Given the description of an element on the screen output the (x, y) to click on. 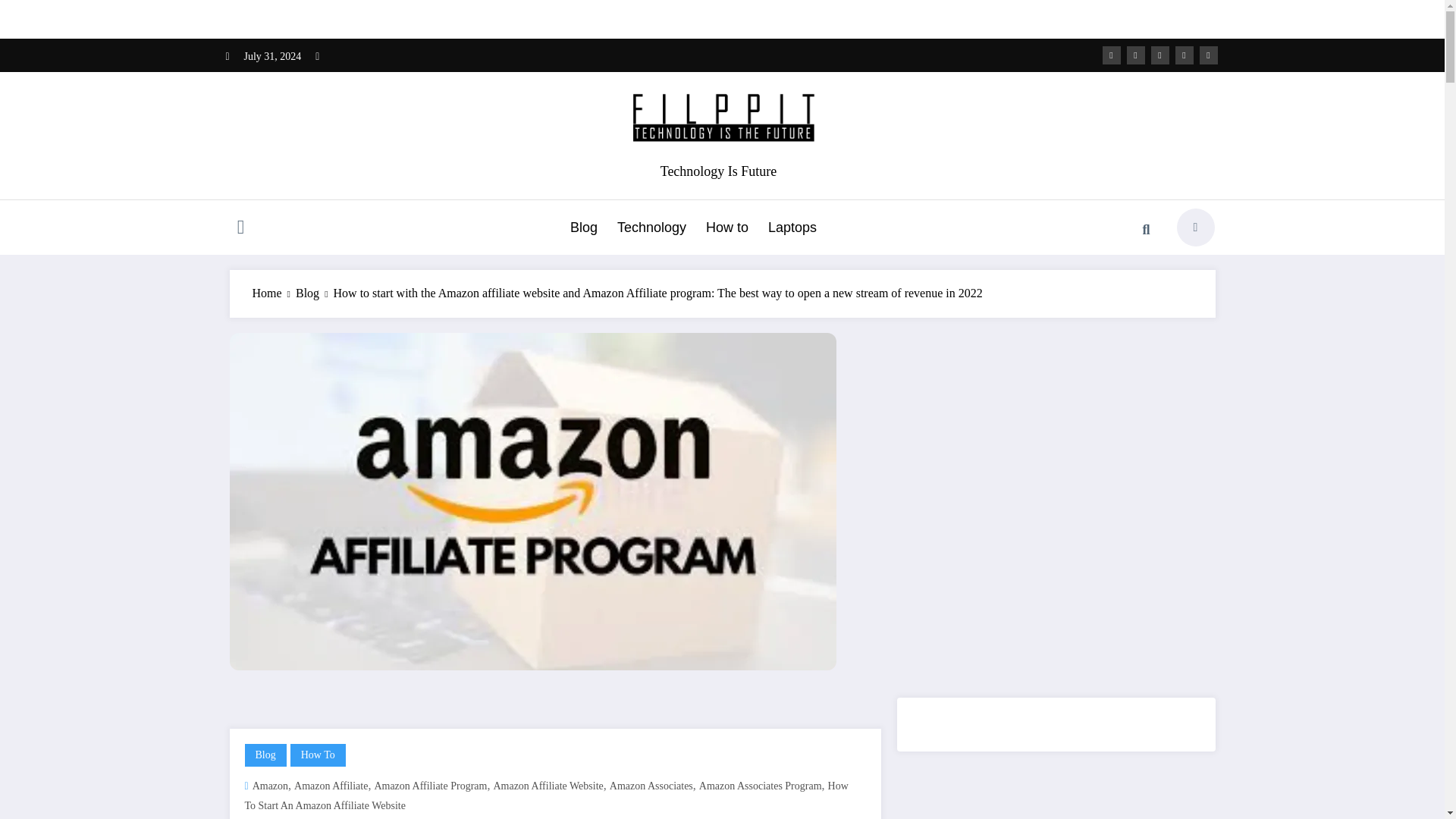
Laptops (792, 227)
Amazon Affiliate Program (430, 785)
Amazon Associates (651, 785)
facebook-f (1111, 54)
Amazon Associates Program (760, 785)
Amazon Affiliate Website (547, 785)
Technology (651, 227)
Toggle Icon (239, 228)
Blog (306, 292)
Home (266, 292)
Blog (264, 754)
Amazon (269, 785)
dribbble (1160, 54)
fa-brands fa-x-twitter (1135, 54)
Search (1145, 229)
